Given the description of an element on the screen output the (x, y) to click on. 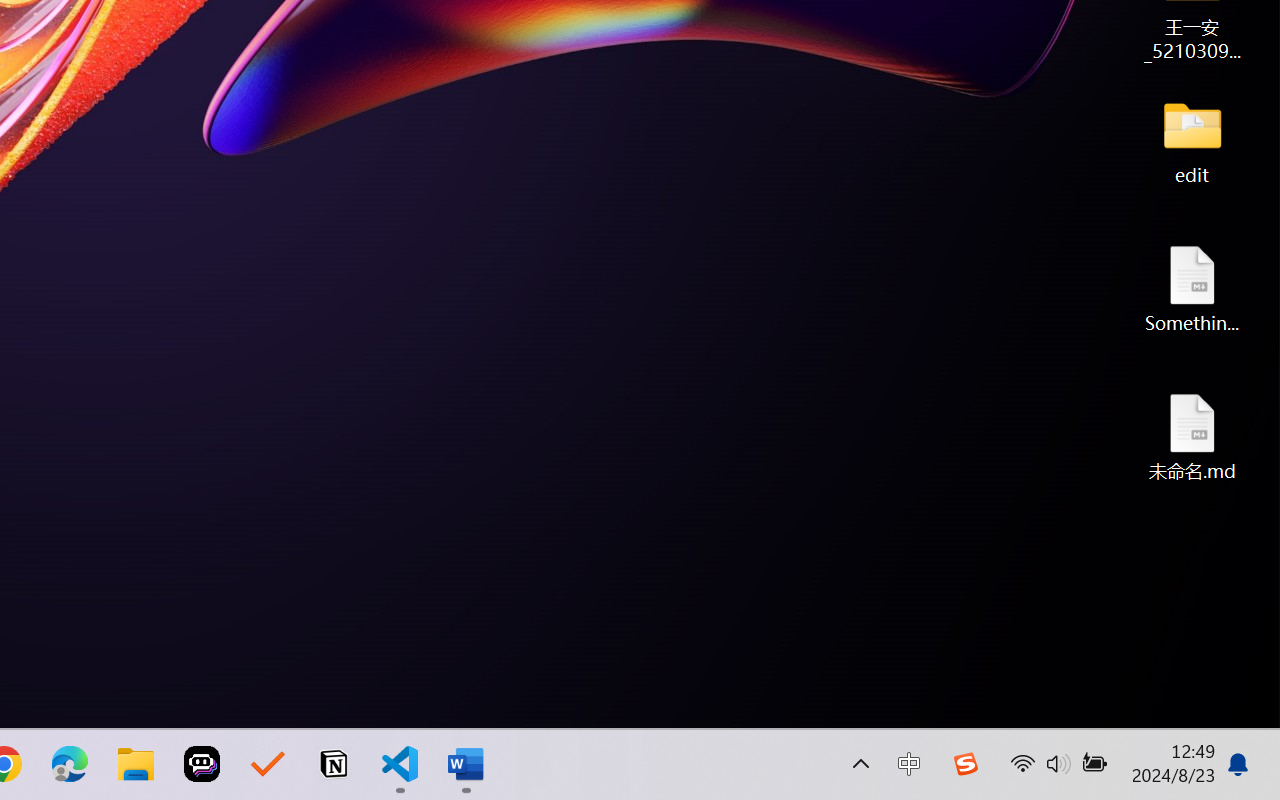
Something.md (1192, 288)
Microsoft Edge (69, 764)
